Given the description of an element on the screen output the (x, y) to click on. 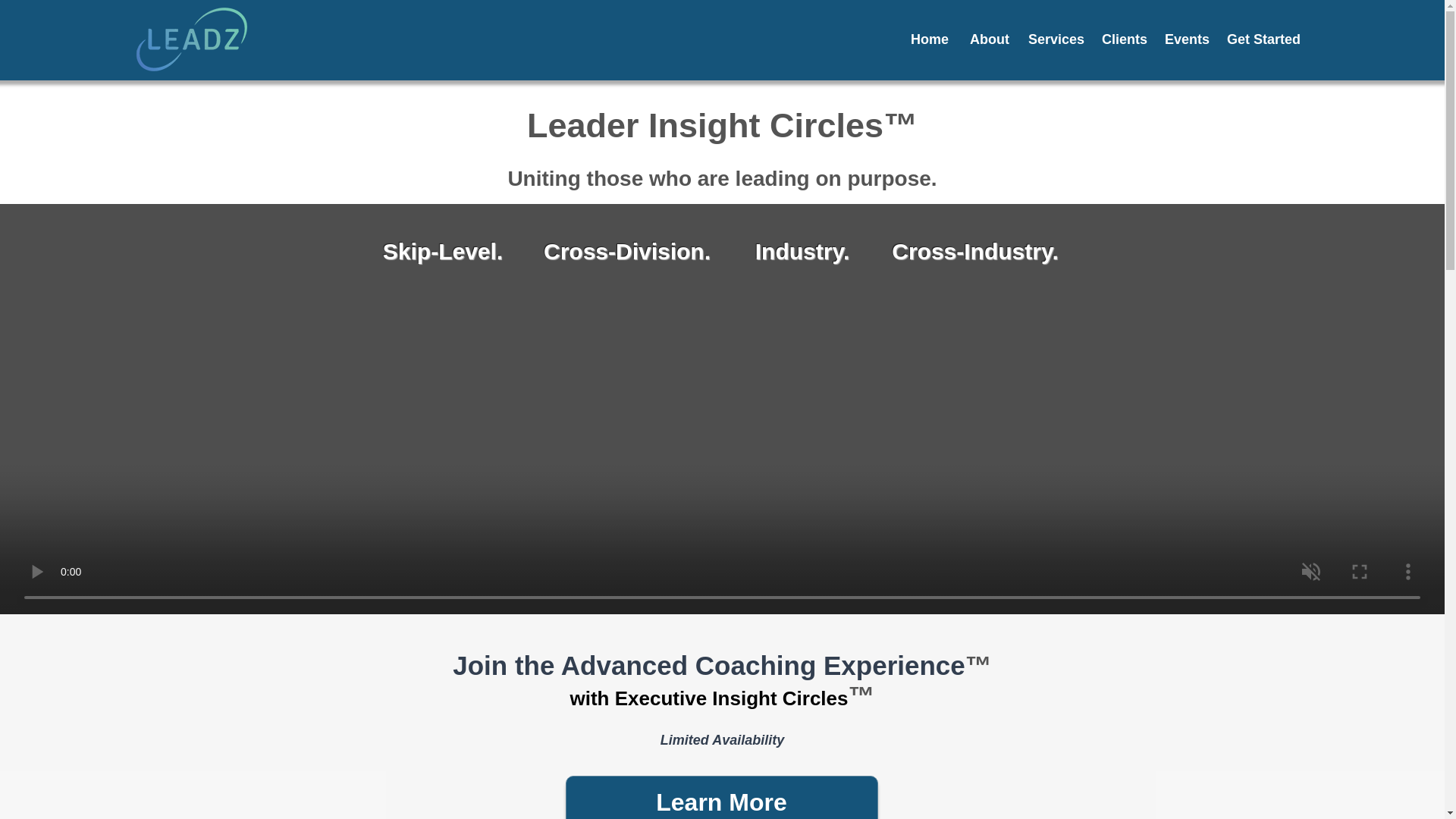
Learn More (721, 797)
Home (928, 37)
Get Started (1260, 37)
Clients (1121, 37)
